Given the description of an element on the screen output the (x, y) to click on. 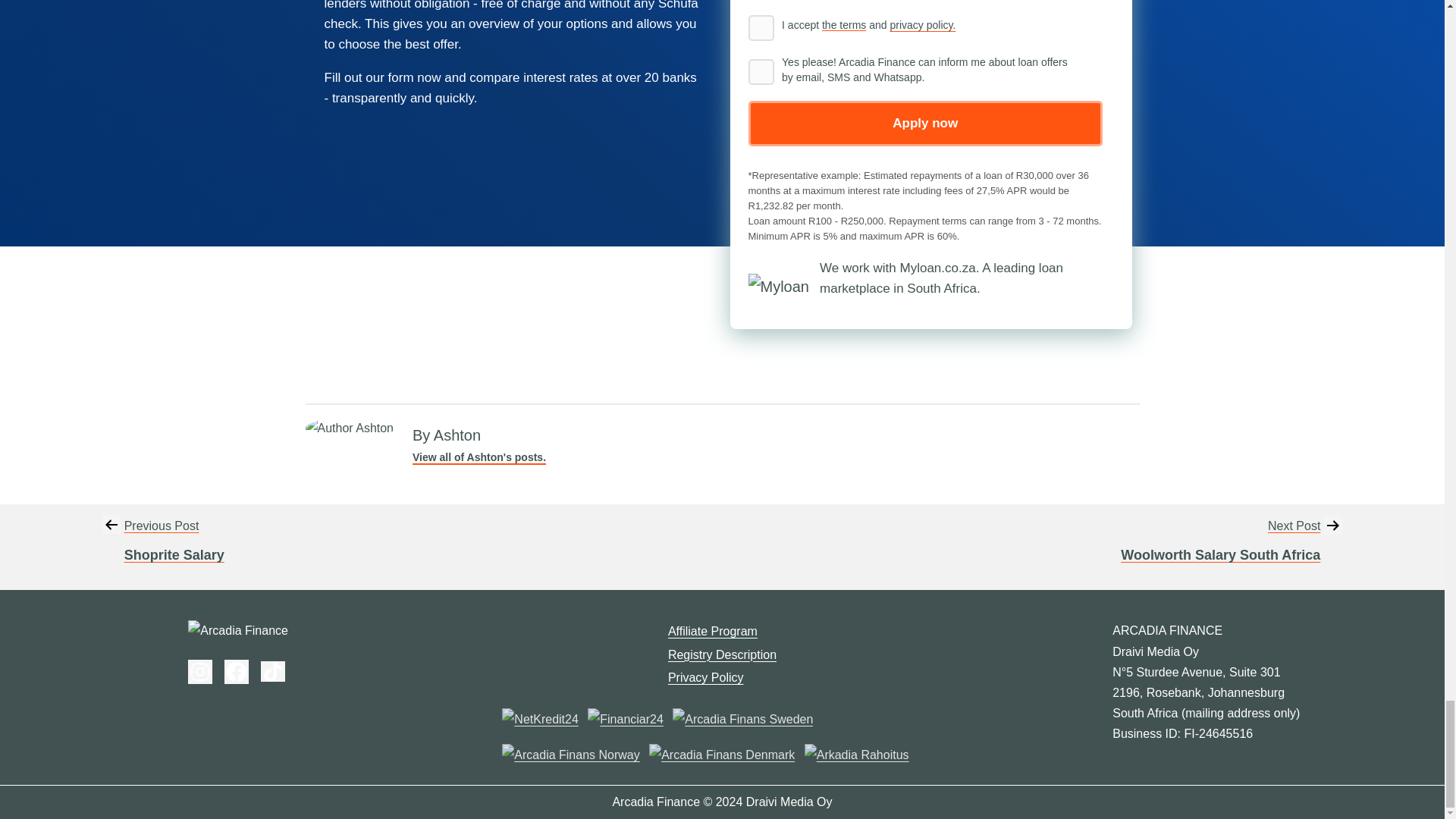
Registry Description (722, 654)
Apply now (173, 547)
TikTok (925, 123)
on (272, 670)
Privacy Policy (760, 71)
Affiliate Program (706, 676)
on (712, 631)
View all of Ashton's posts. (760, 27)
Facebook (478, 457)
privacy policy. (236, 671)
Apply now (922, 24)
Instagram (925, 123)
